Given the description of an element on the screen output the (x, y) to click on. 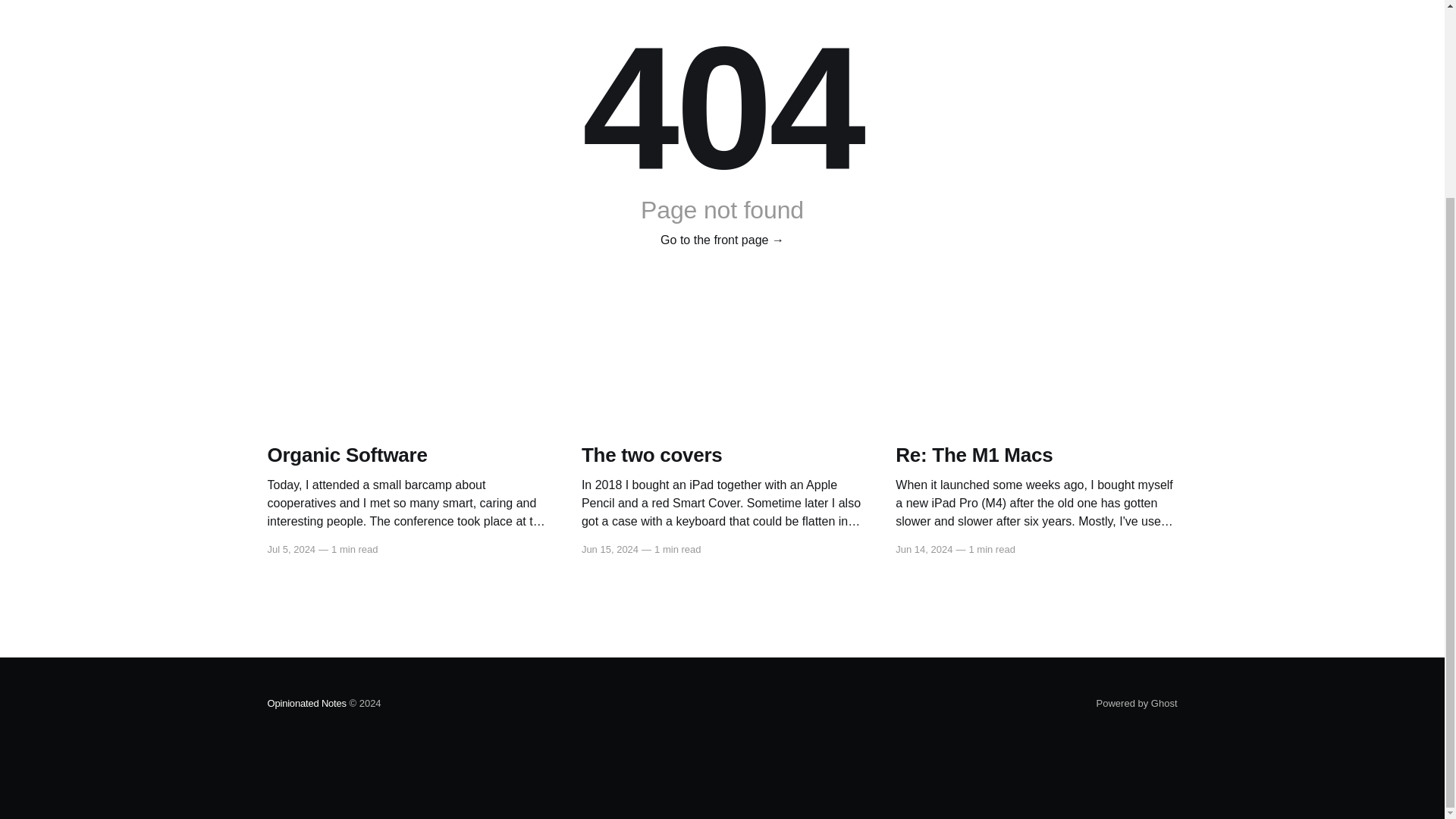
Powered by Ghost (1136, 703)
Opinionated Notes (306, 703)
